Given the description of an element on the screen output the (x, y) to click on. 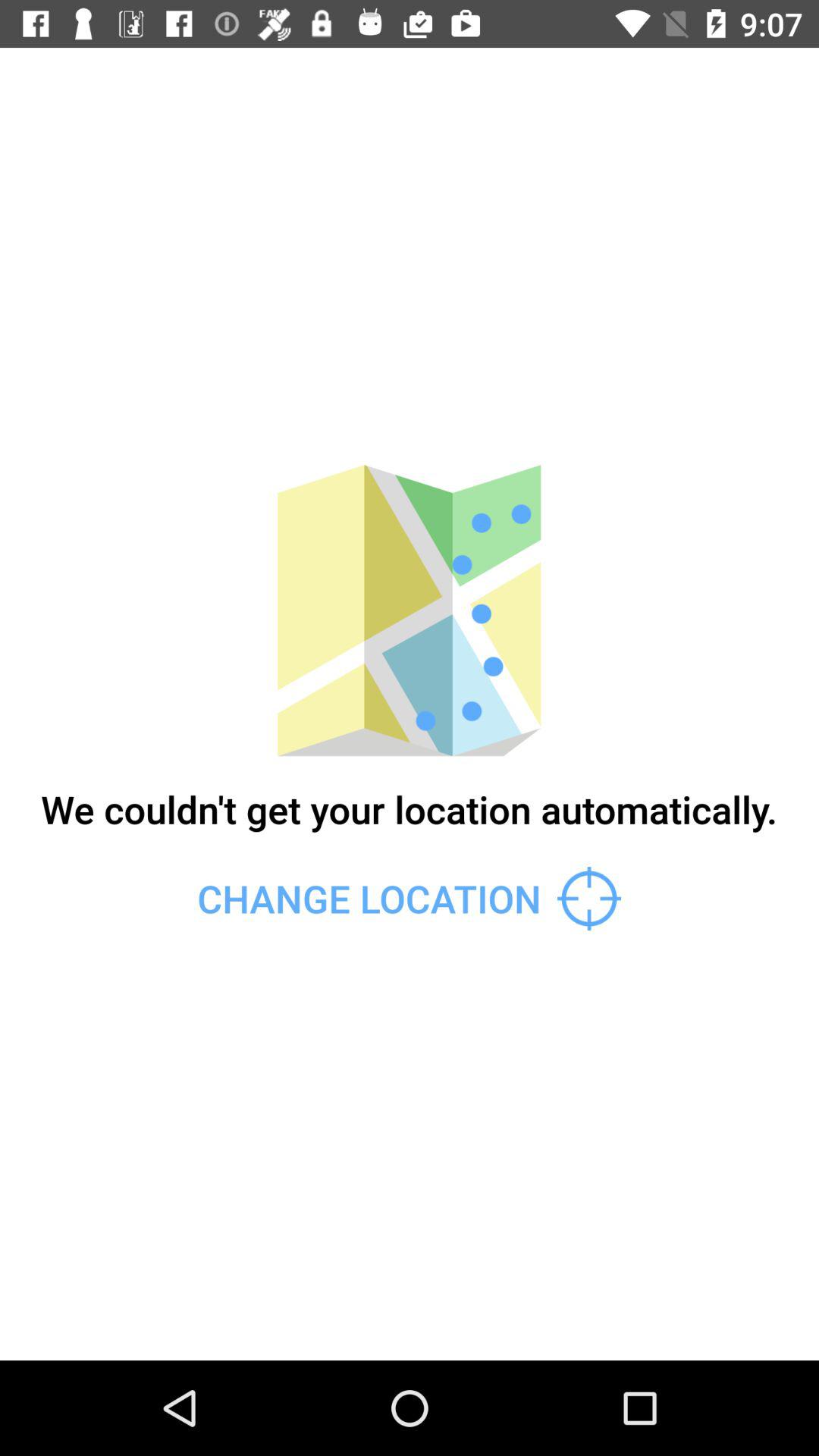
click the change location icon (409, 898)
